Given the description of an element on the screen output the (x, y) to click on. 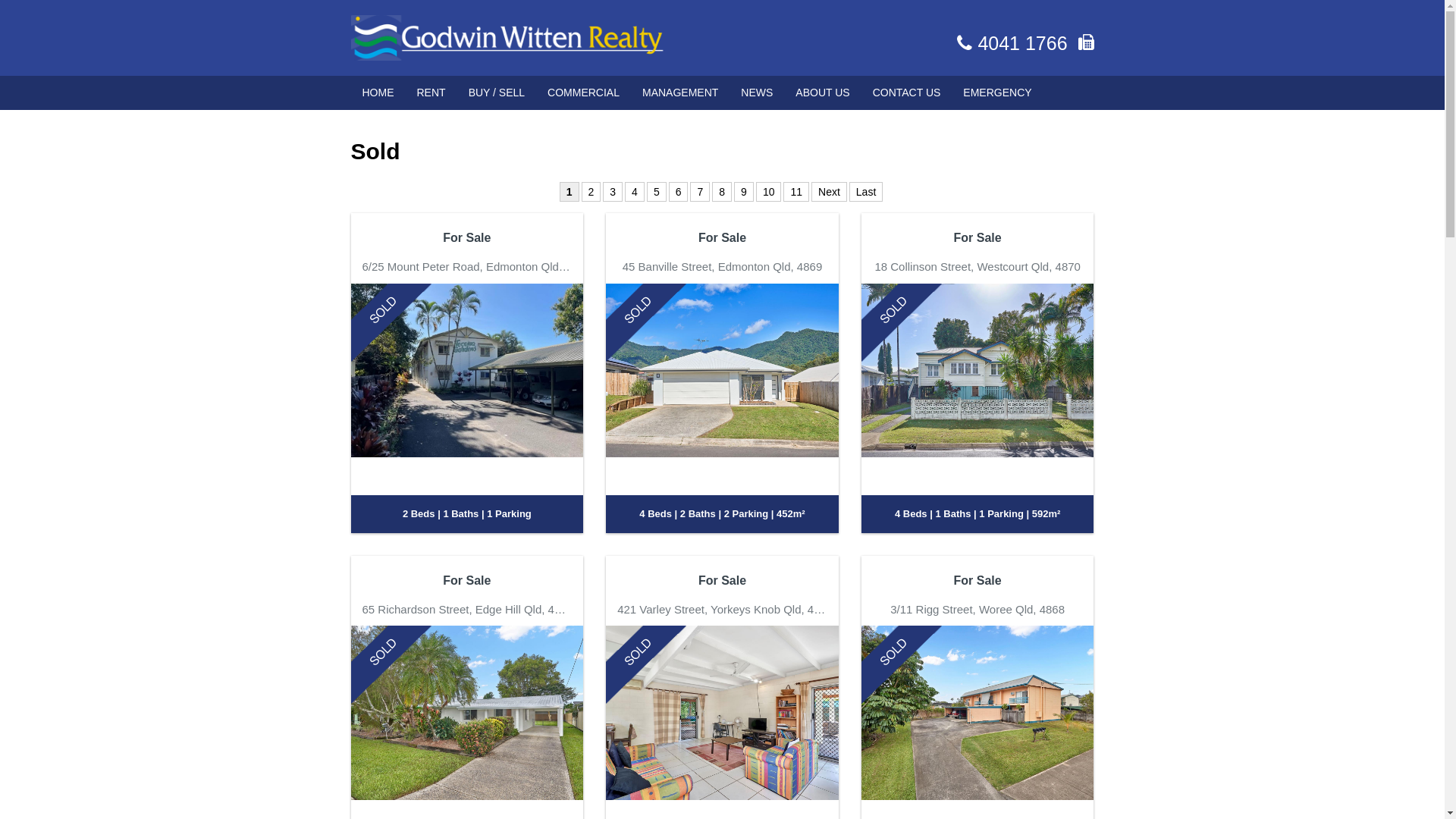
BUY / SELL Element type: text (496, 92)
3 Element type: text (612, 191)
HOME Element type: text (377, 92)
1 Element type: text (569, 191)
2 Element type: text (590, 191)
EMERGENCY Element type: text (996, 92)
11 Element type: text (796, 191)
Next Element type: text (829, 191)
4 Element type: text (634, 191)
9 Element type: text (743, 191)
MANAGEMENT Element type: text (679, 92)
CONTACT US Element type: text (906, 92)
COMMERCIAL Element type: text (583, 92)
6 Element type: text (678, 191)
Last Element type: text (865, 191)
NEWS Element type: text (756, 92)
5 Element type: text (656, 191)
7 Element type: text (699, 191)
RENT Element type: text (430, 92)
10 Element type: text (768, 191)
ABOUT US Element type: text (822, 92)
8 Element type: text (721, 191)
